Given the description of an element on the screen output the (x, y) to click on. 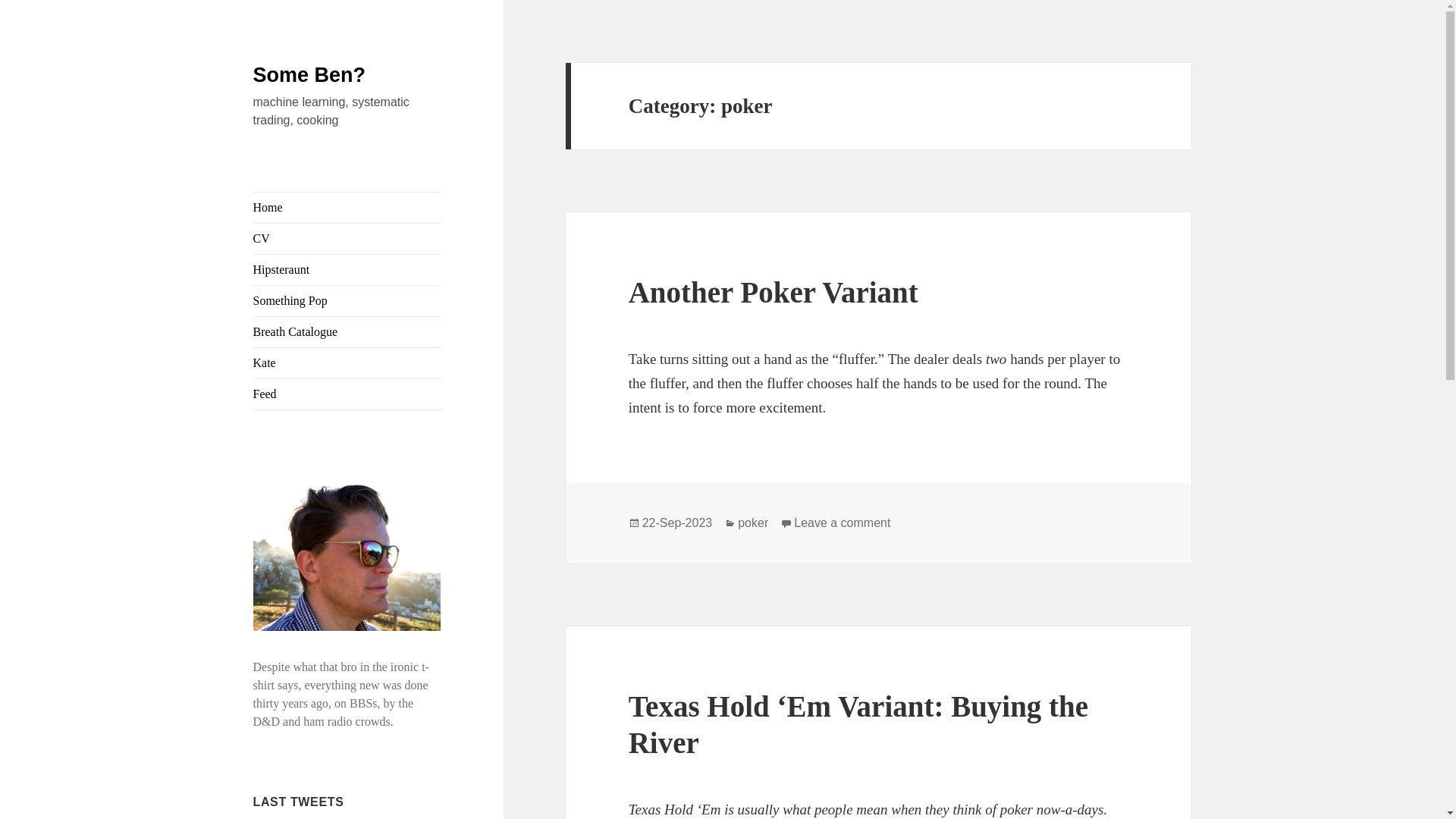
Something Pop (347, 300)
Hipsteraunt (347, 269)
Some Ben? (309, 74)
Breath Catalogue (347, 331)
poker (753, 522)
Leave a comment (841, 522)
Another Poker Variant (773, 292)
Home (347, 207)
Kate (347, 363)
22-Sep-2023 (677, 522)
